Given the description of an element on the screen output the (x, y) to click on. 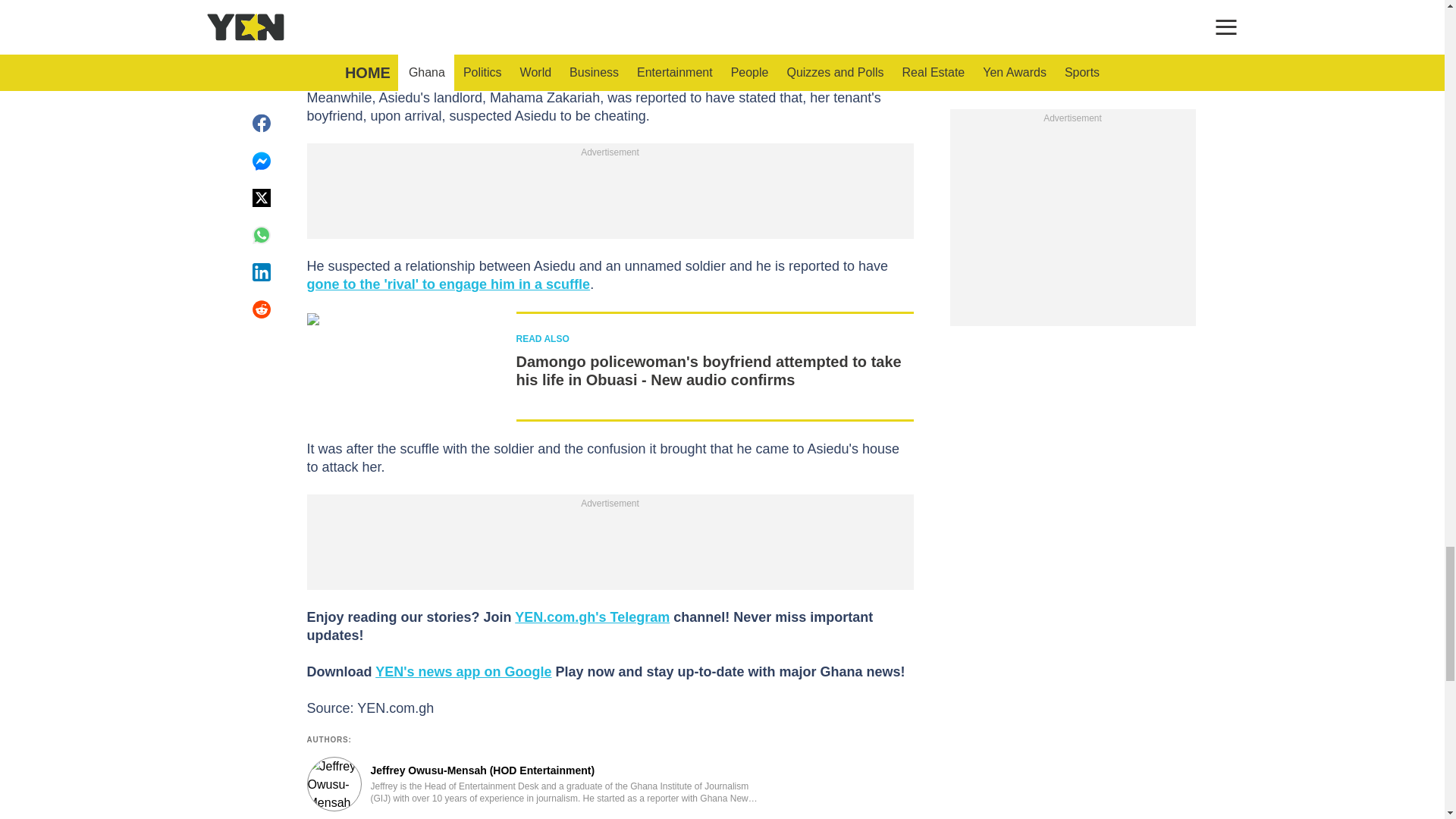
Author page (533, 783)
